Given the description of an element on the screen output the (x, y) to click on. 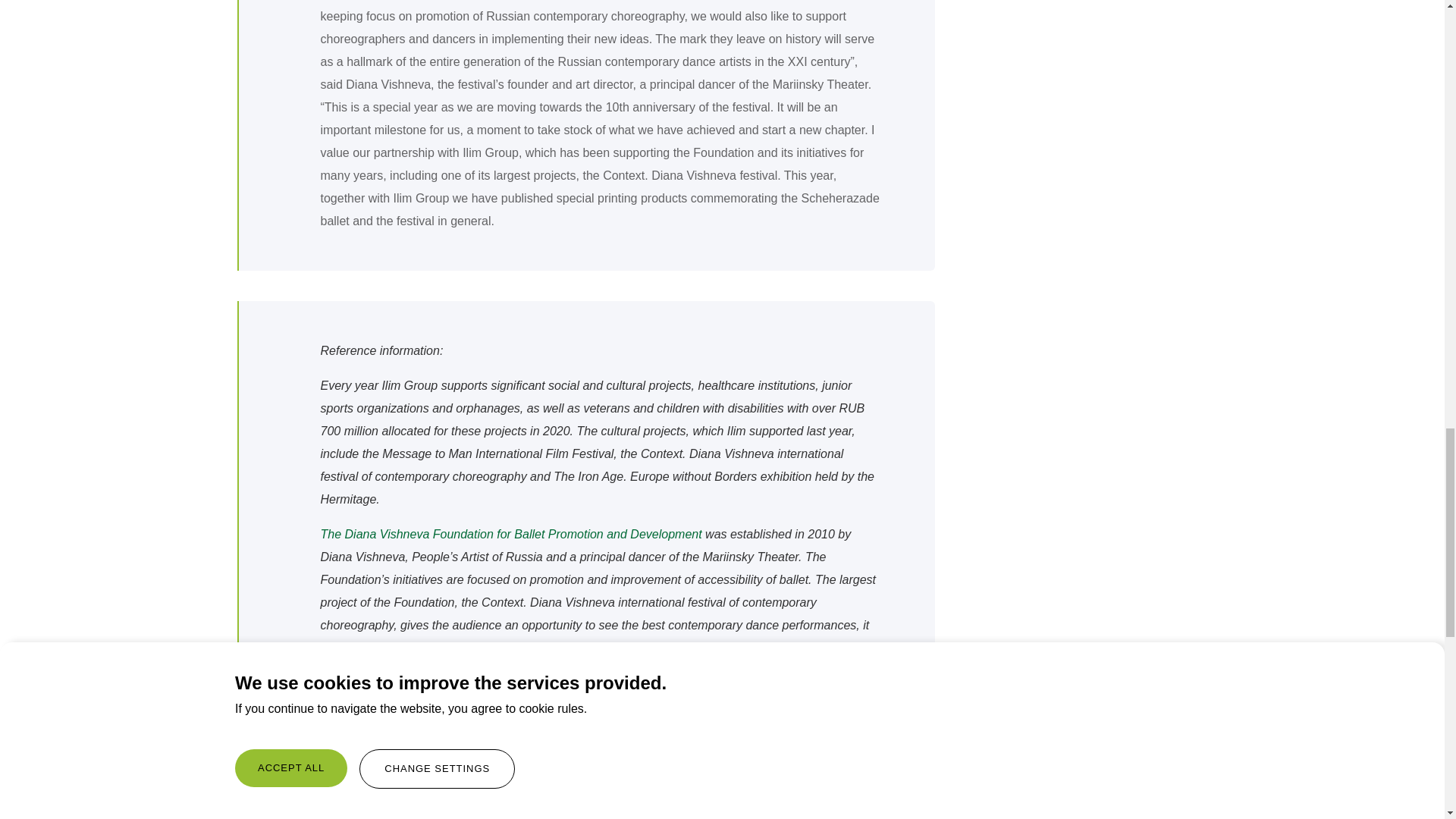
Twitter (304, 812)
